Given the description of an element on the screen output the (x, y) to click on. 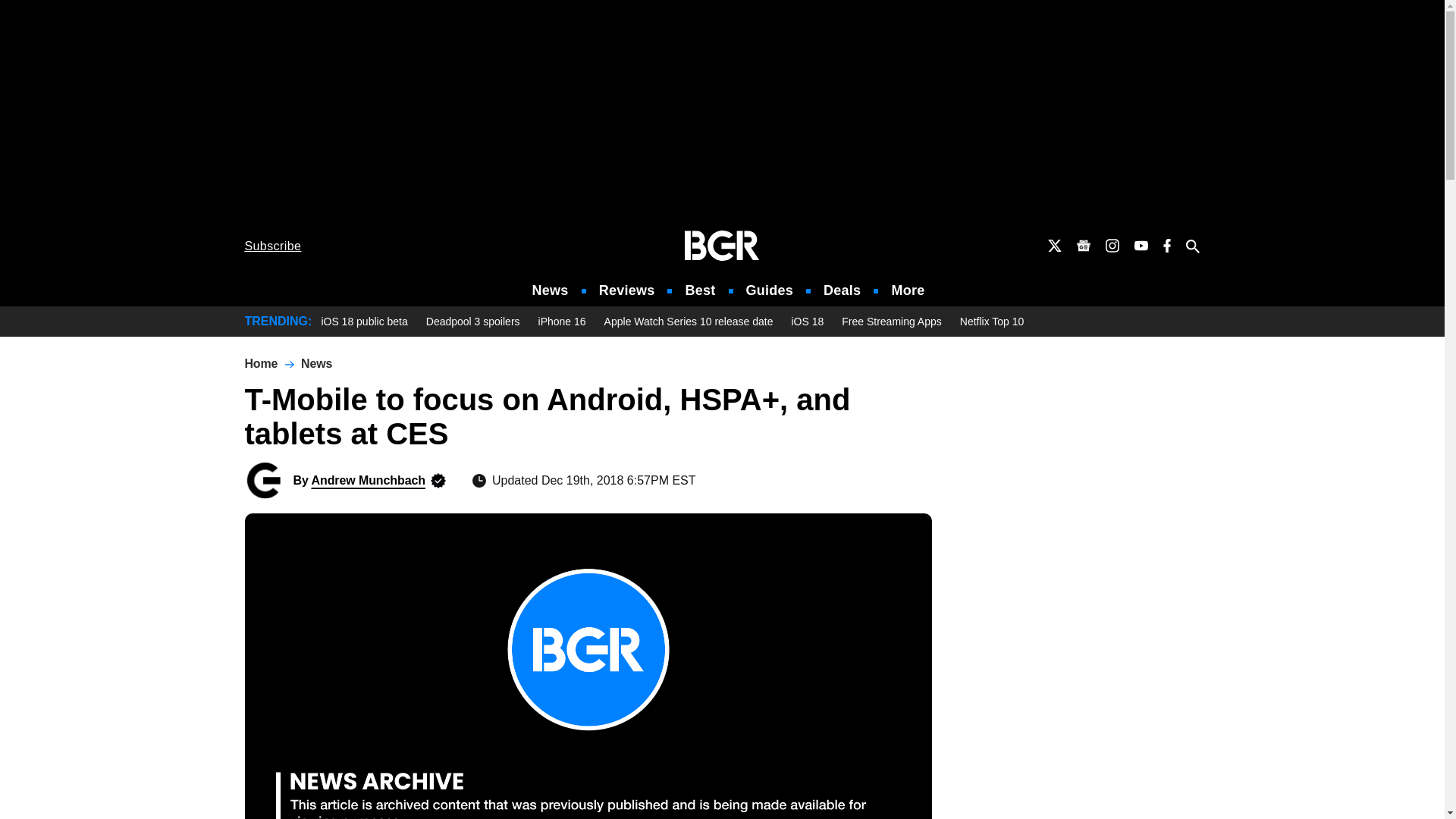
Guides (769, 290)
Posts by Andrew Munchbach (368, 480)
Subscribe (272, 245)
More (907, 290)
News (550, 290)
Reviews (626, 290)
Best (699, 290)
Deals (842, 290)
